Given the description of an element on the screen output the (x, y) to click on. 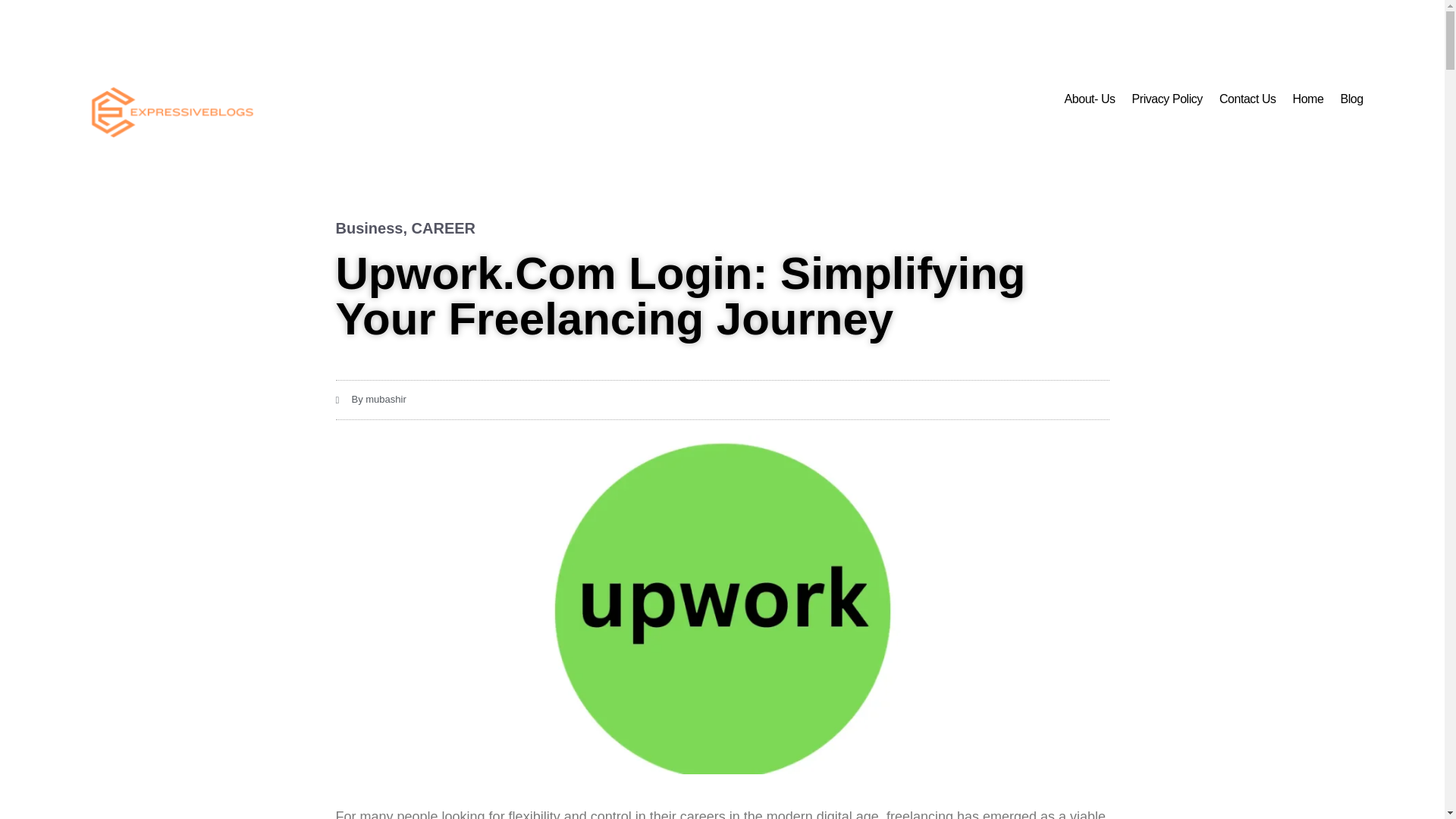
About- Us (1089, 98)
CAREER (444, 228)
Home (1308, 98)
Privacy Policy (1166, 98)
Business (368, 228)
By mubashir (370, 399)
Contact Us (1247, 98)
Blog (1351, 98)
